Given the description of an element on the screen output the (x, y) to click on. 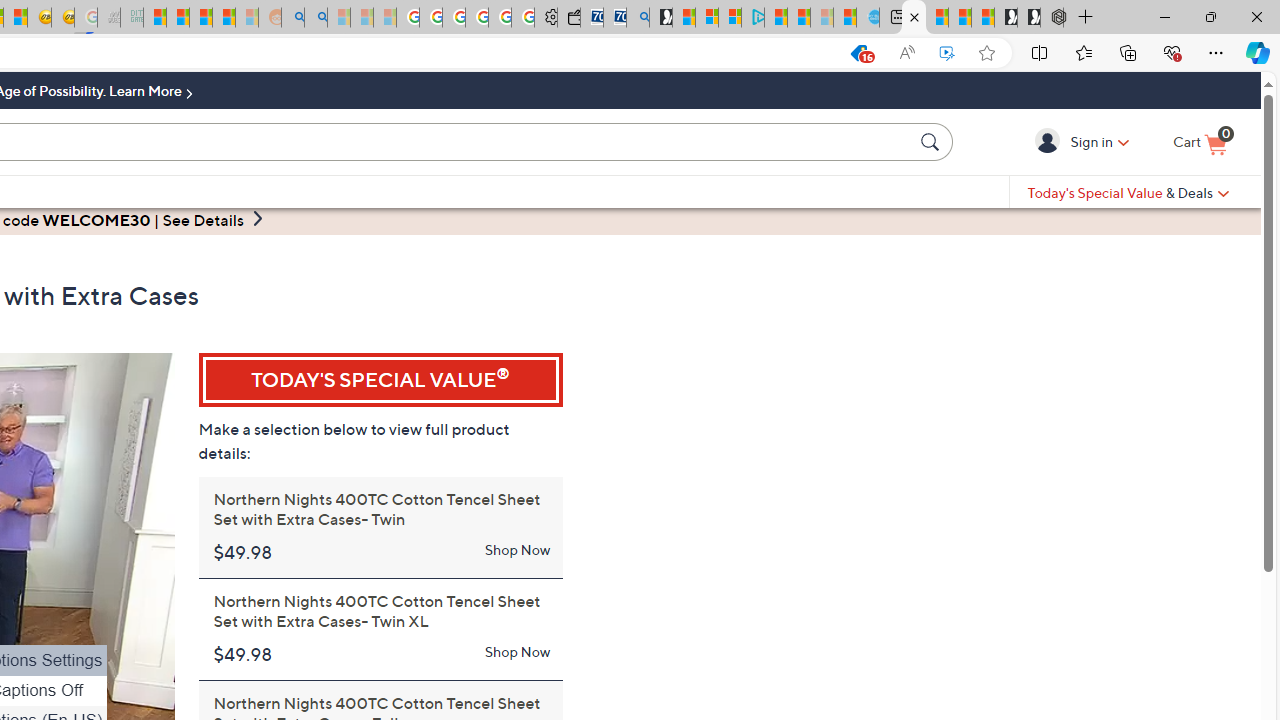
Today's Special Value & Deals (1128, 192)
